Given the description of an element on the screen output the (x, y) to click on. 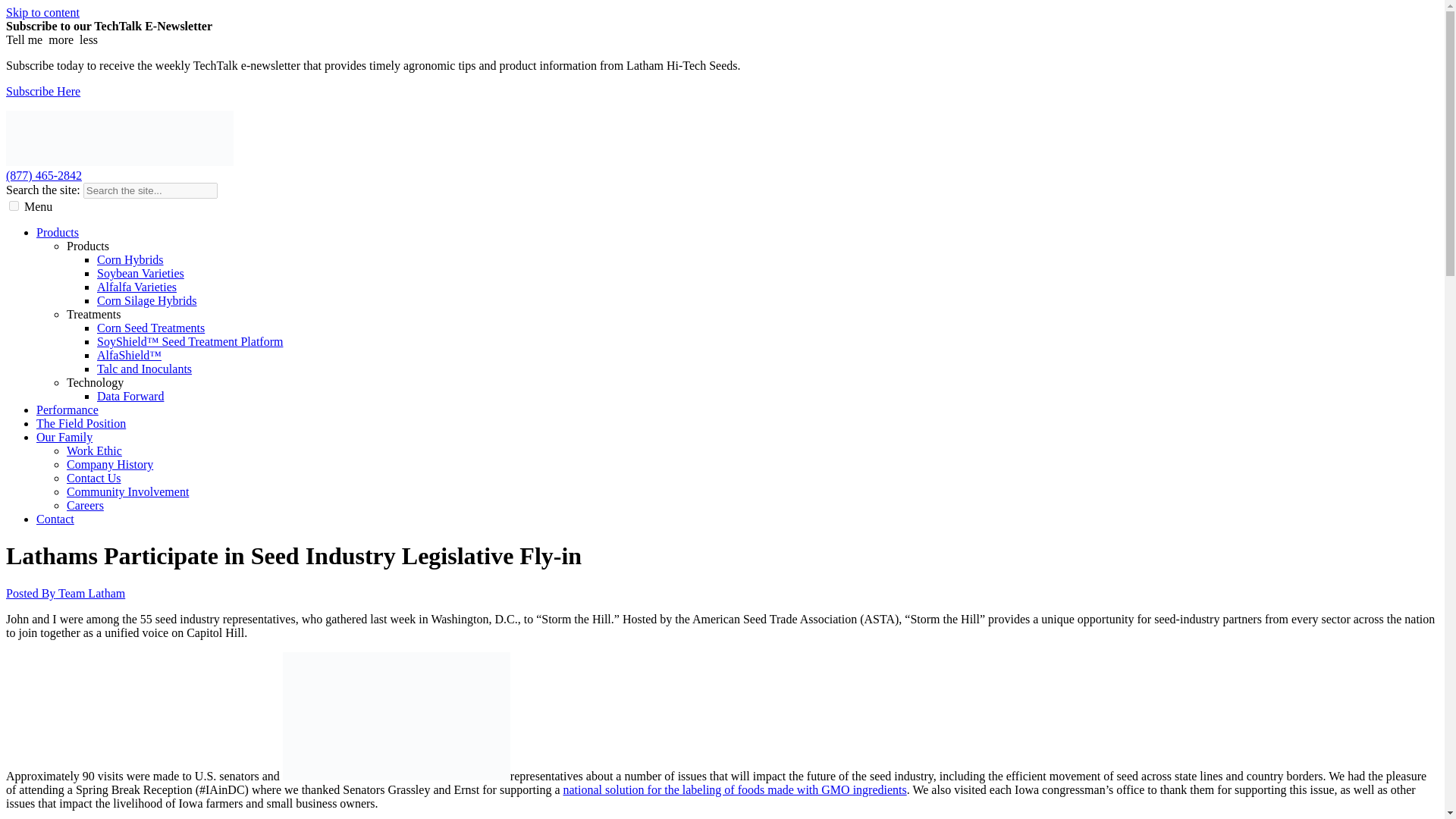
Talc and Inoculants (144, 368)
Community Involvement (127, 491)
Tell me  more  less (51, 39)
Skip to content (42, 11)
on (13, 205)
Subscribe Here (42, 91)
Data Forward (130, 395)
Posted By Team Latham (65, 593)
Corn Hybrids (130, 259)
Corn Silage Hybrids (146, 300)
The Field Position (80, 422)
Careers (84, 504)
Company History (109, 463)
Products (57, 232)
